Given the description of an element on the screen output the (x, y) to click on. 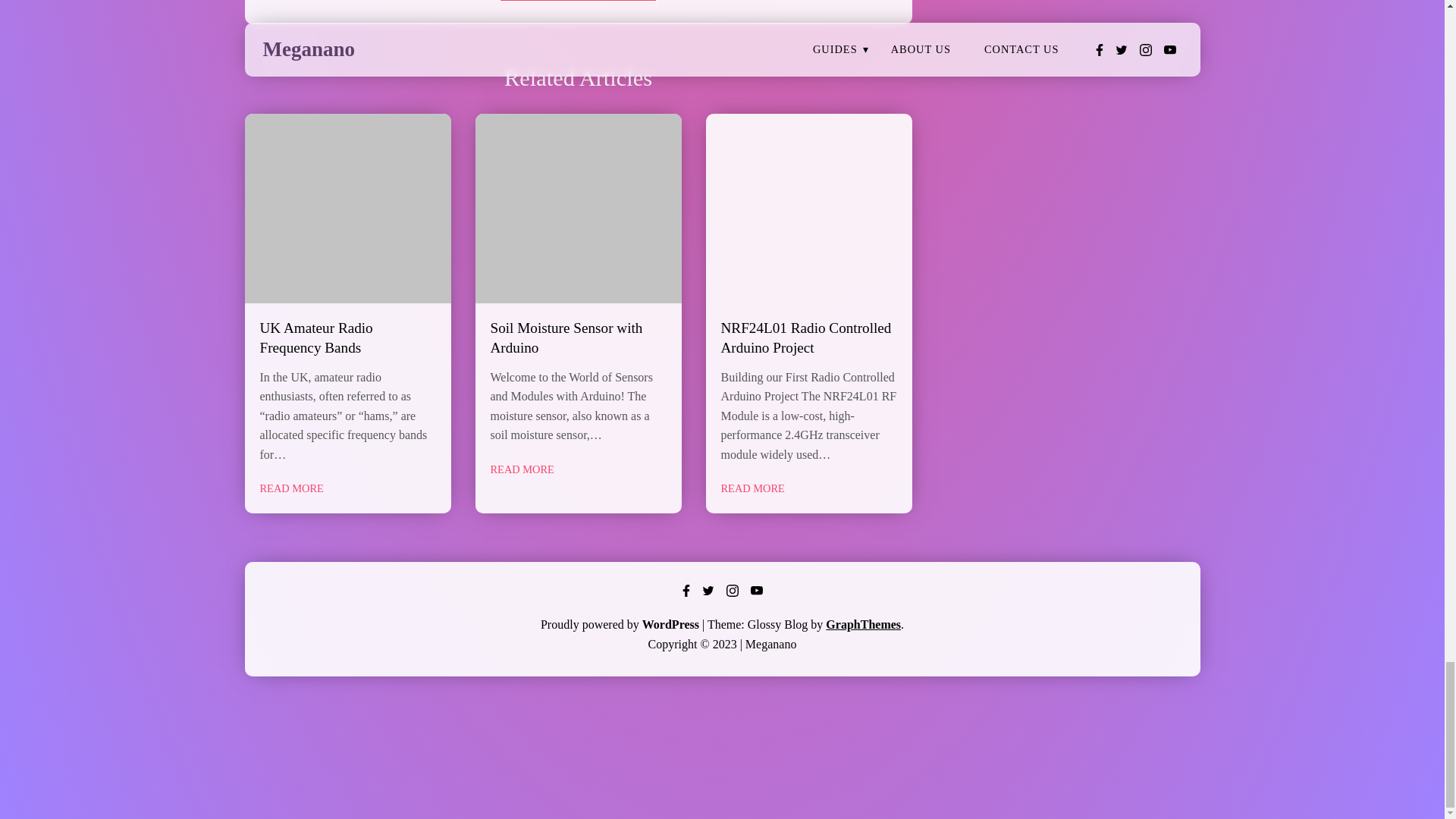
UK Amateur Radio Frequency Bands (315, 338)
Verified by MonsterInsights (721, 756)
